Given the description of an element on the screen output the (x, y) to click on. 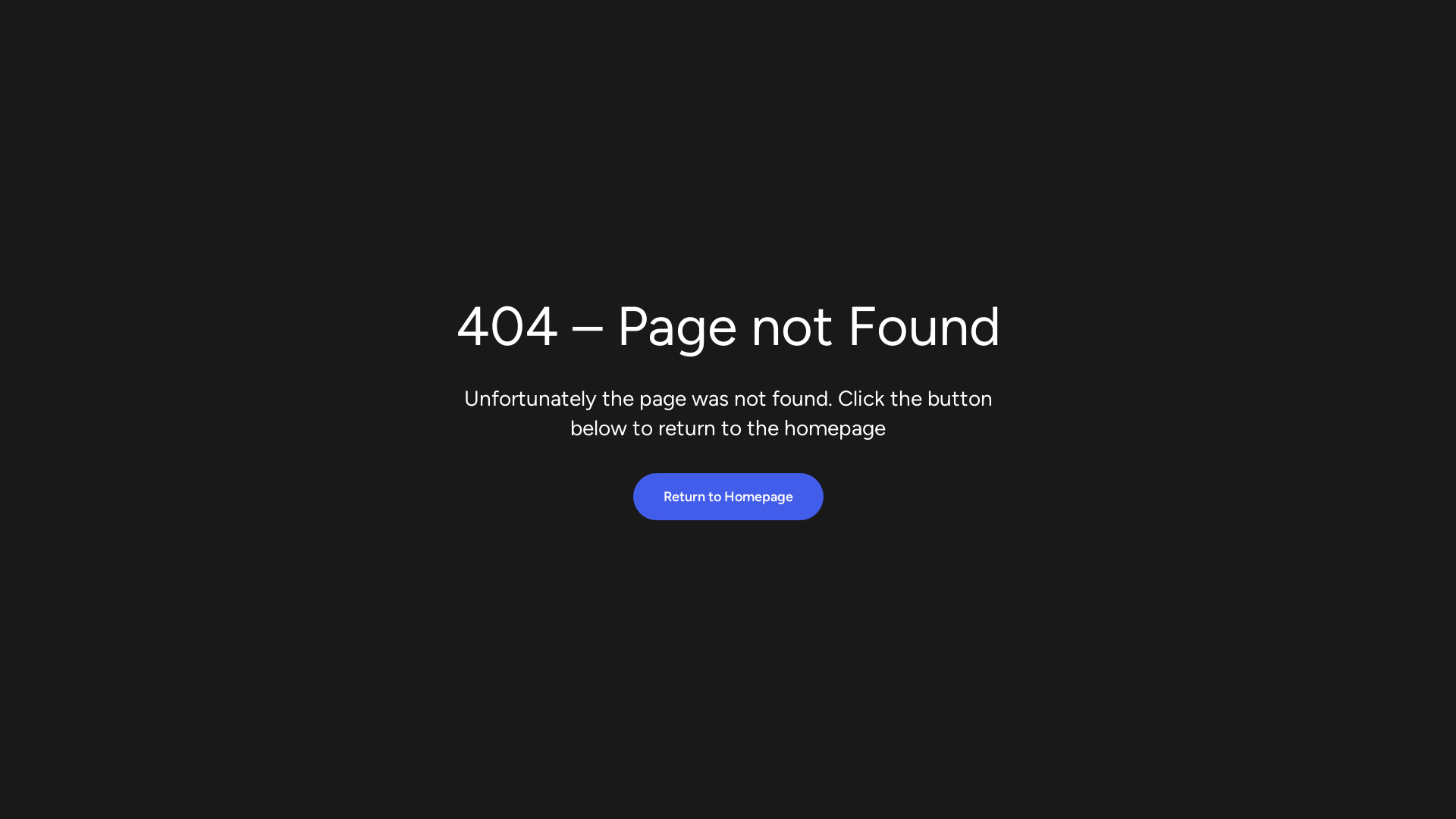
Return to Homepage Element type: text (727, 496)
